Given the description of an element on the screen output the (x, y) to click on. 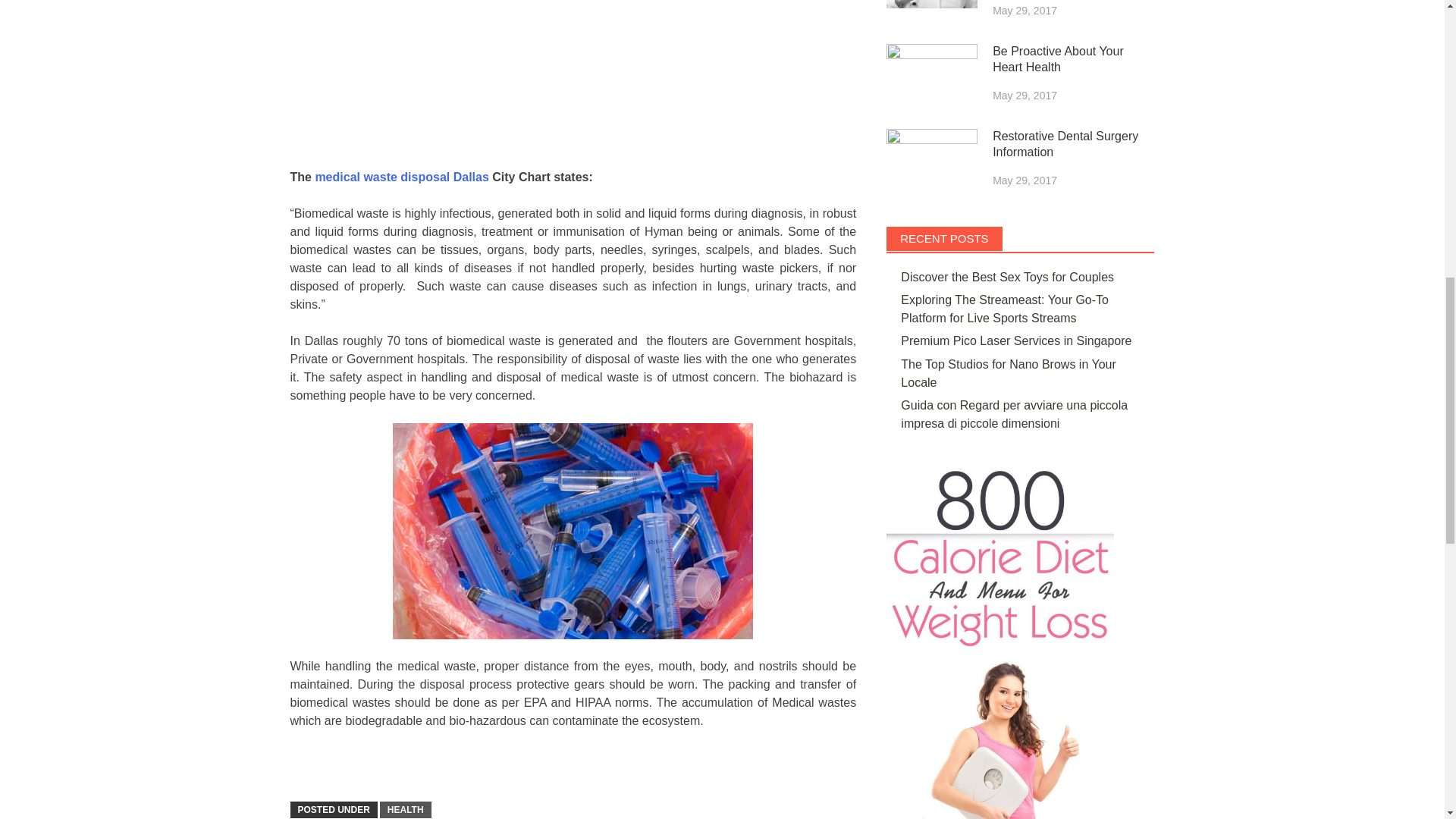
medical waste disposal Dallas (400, 176)
Restorative Dental Surgery Information (931, 160)
HEALTH (405, 809)
Be Proactive About Your Heart Health (931, 76)
